Given the description of an element on the screen output the (x, y) to click on. 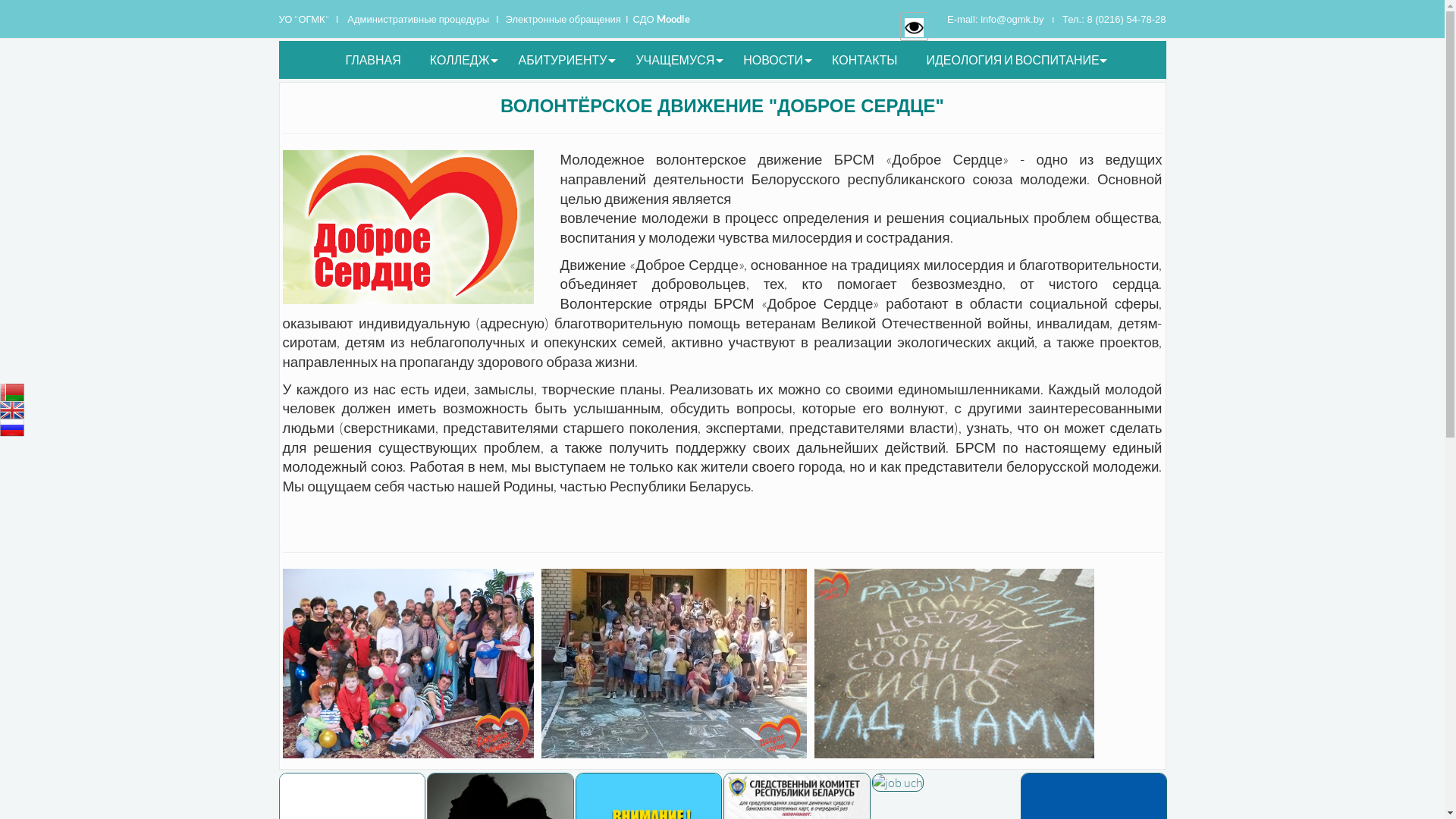
Belarusian Element type: hover (12, 392)
Russian Element type: hover (12, 427)
info@ogmk.by Element type: text (1011, 19)
Moodle Element type: text (673, 18)
English Element type: hover (12, 410)
